Given the description of an element on the screen output the (x, y) to click on. 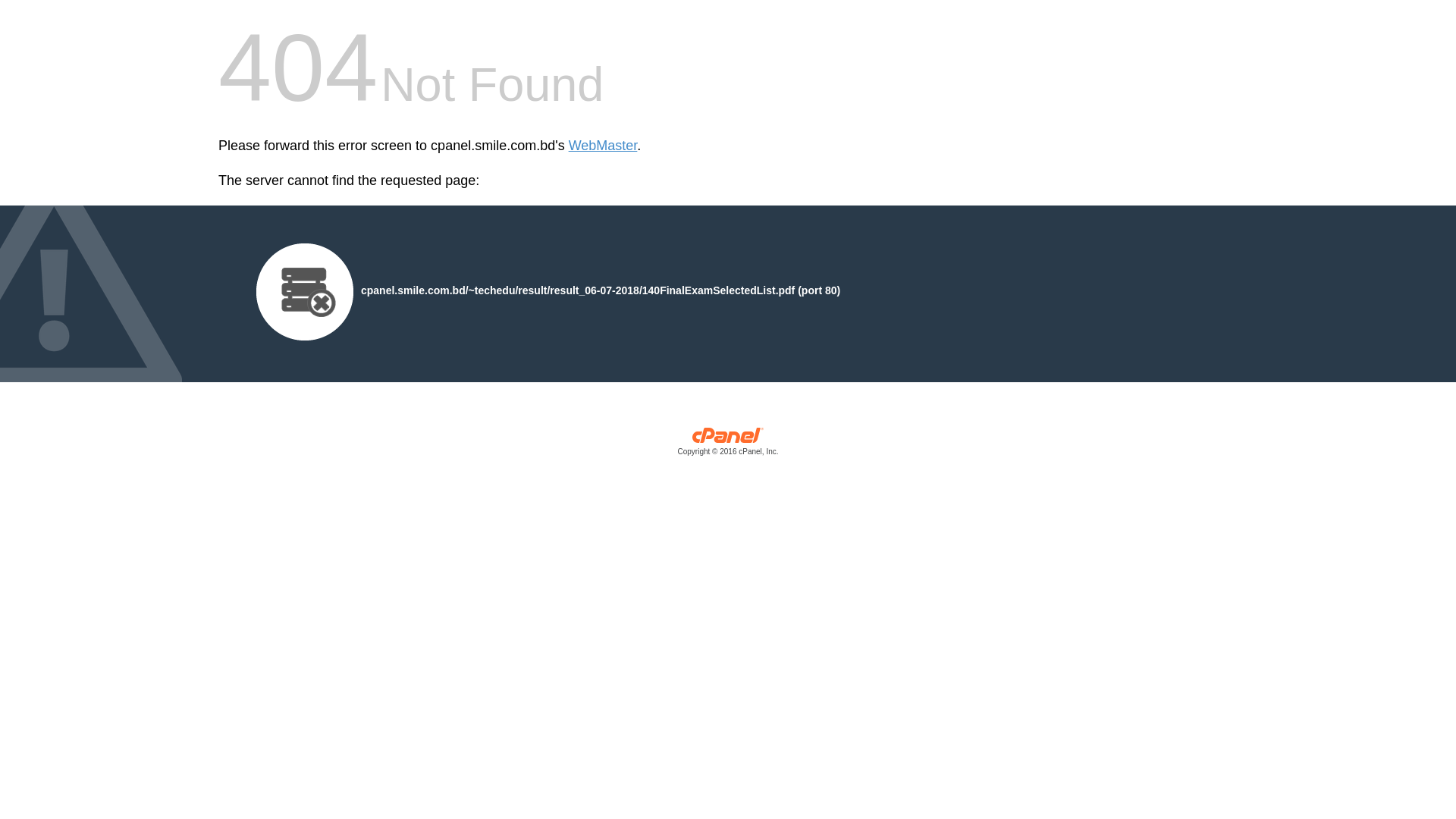
WebMaster Element type: text (602, 145)
